Given the description of an element on the screen output the (x, y) to click on. 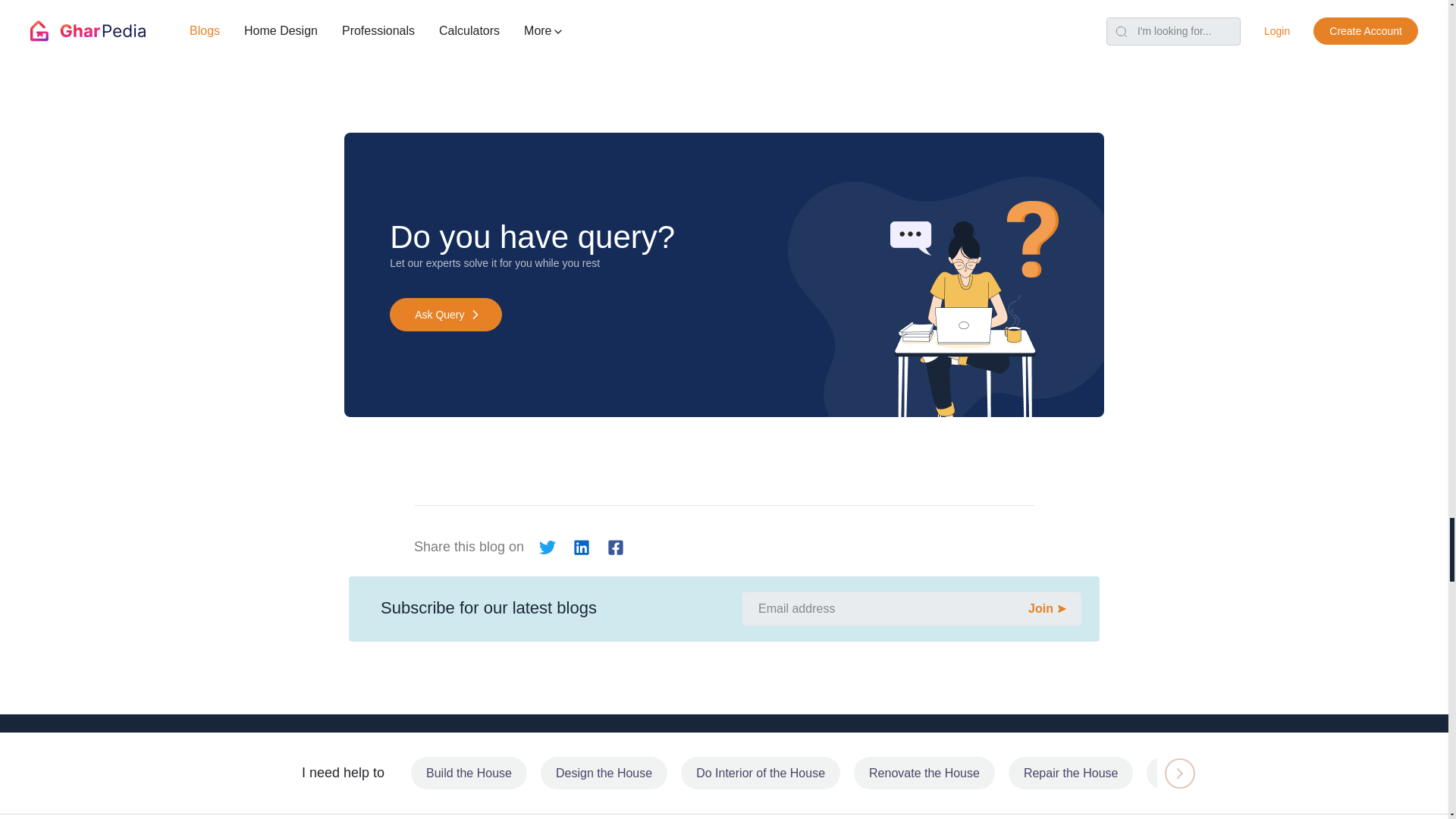
Facebook (615, 546)
